Given the description of an element on the screen output the (x, y) to click on. 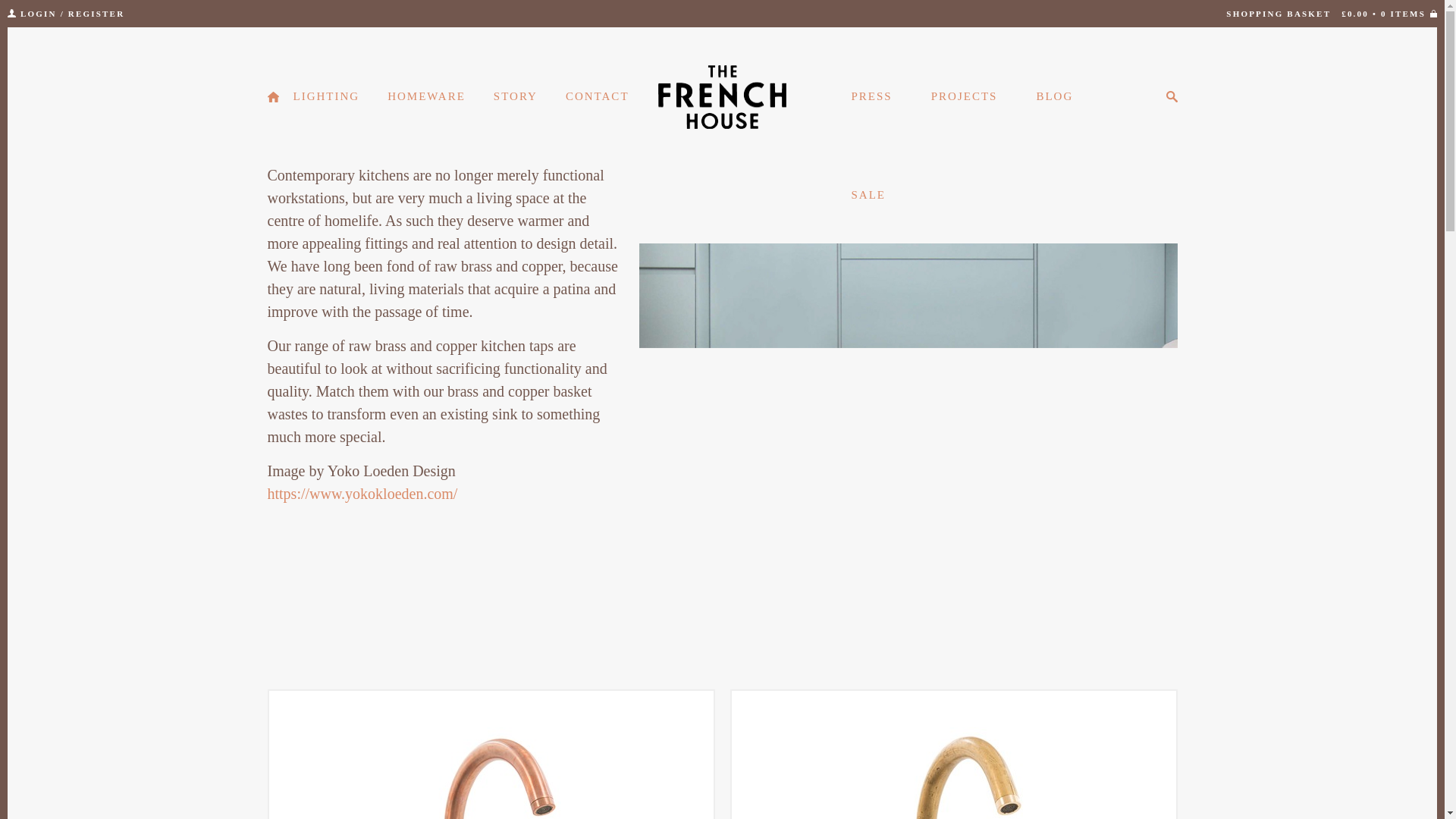
THE FRENCH HOUSE (722, 97)
Copper Mixer Tap, one hole with high swivel spout (490, 755)
LIGHTING (325, 96)
Brass Mixer Tap, one hole with swivel spout (952, 755)
